Given the description of an element on the screen output the (x, y) to click on. 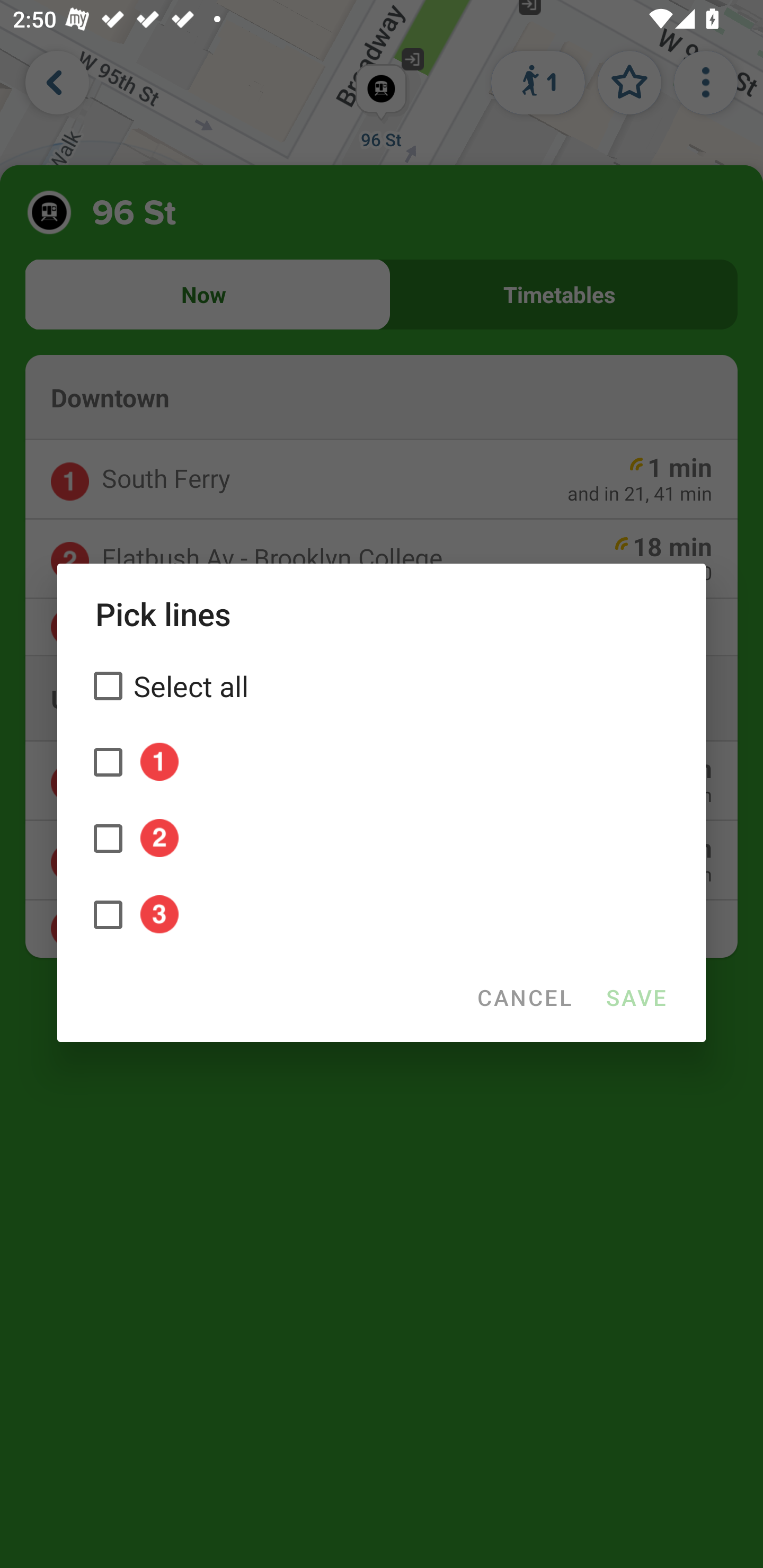
Select all (381, 685)
